Given the description of an element on the screen output the (x, y) to click on. 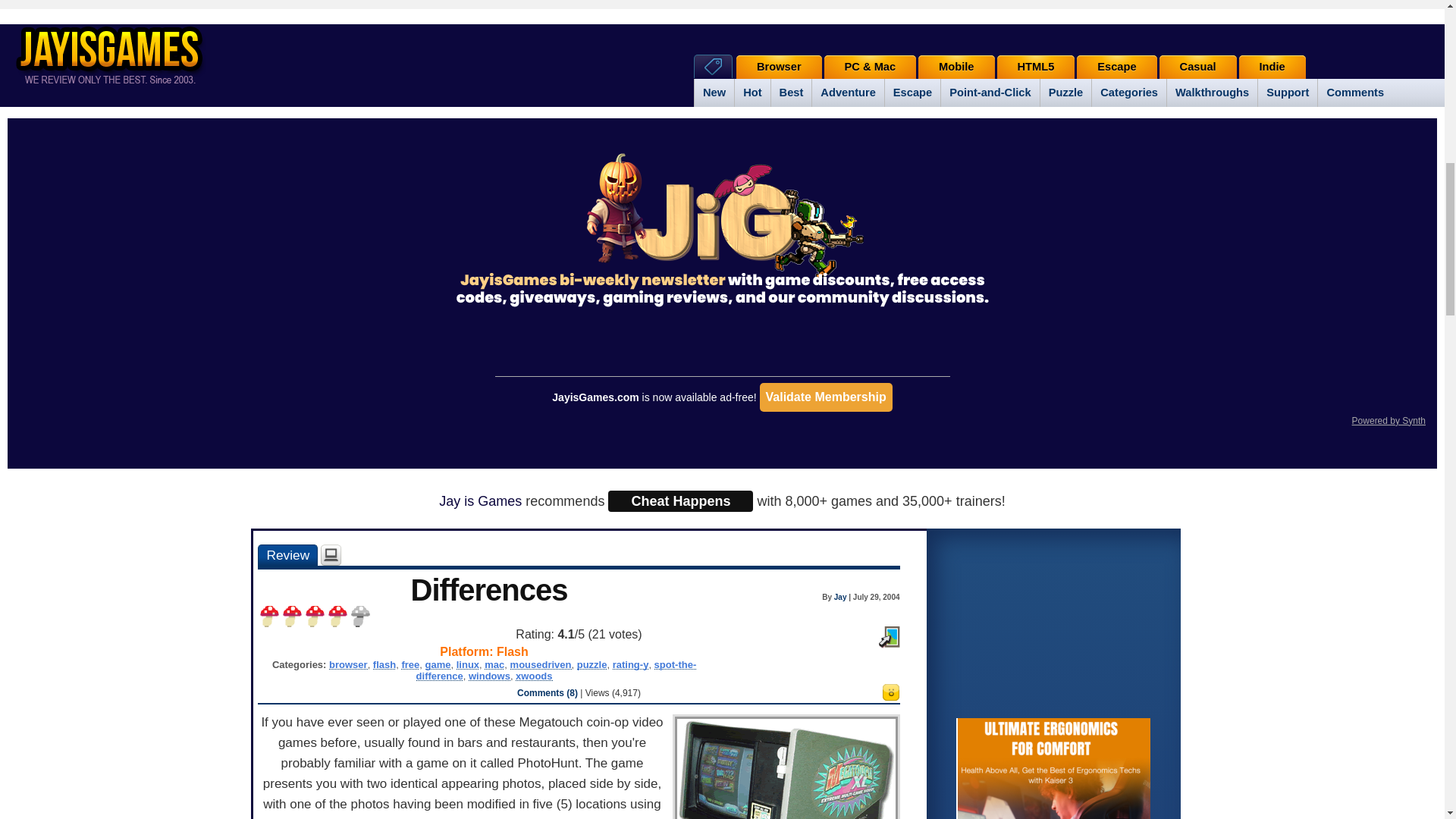
This game is rated :o for content (890, 696)
Tags (713, 65)
Browser (779, 66)
Support (1287, 92)
2 out of 5 (291, 616)
Cheat Happens (680, 500)
5 out of 5 (360, 616)
Best (791, 92)
Puzzle (1065, 92)
Differences  (287, 554)
Escape (911, 92)
Hot (751, 92)
Walkthroughs (1211, 92)
Comments (1354, 92)
Escape (1116, 66)
